Given the description of an element on the screen output the (x, y) to click on. 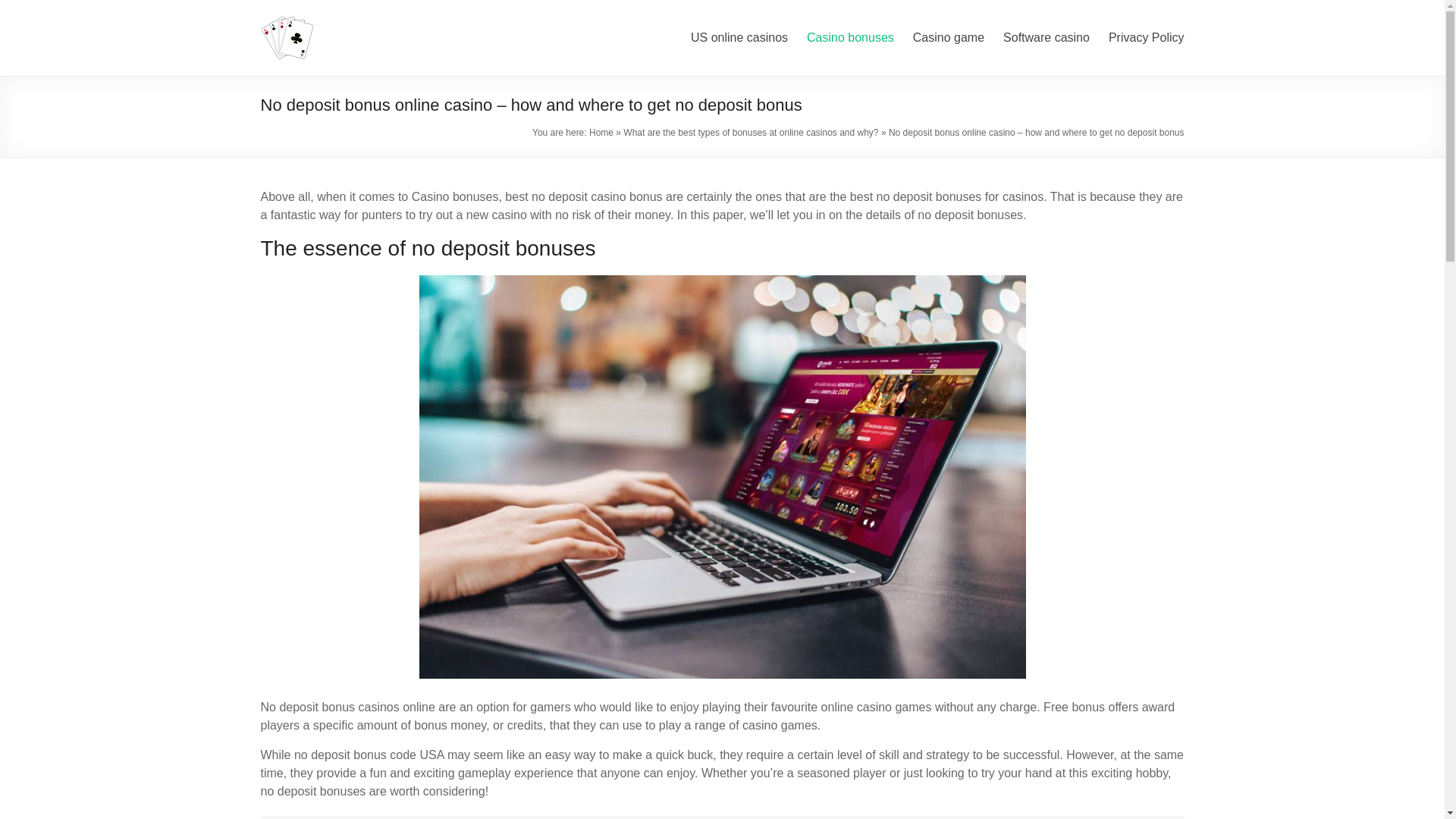
Privacy Policy (1146, 37)
greenleafsupplements.com (422, 30)
US online casinos (738, 37)
Home (600, 132)
Casino bonuses (849, 37)
Software casino (1046, 37)
greenleafsupplements.com (422, 30)
Casino game (948, 37)
